Given the description of an element on the screen output the (x, y) to click on. 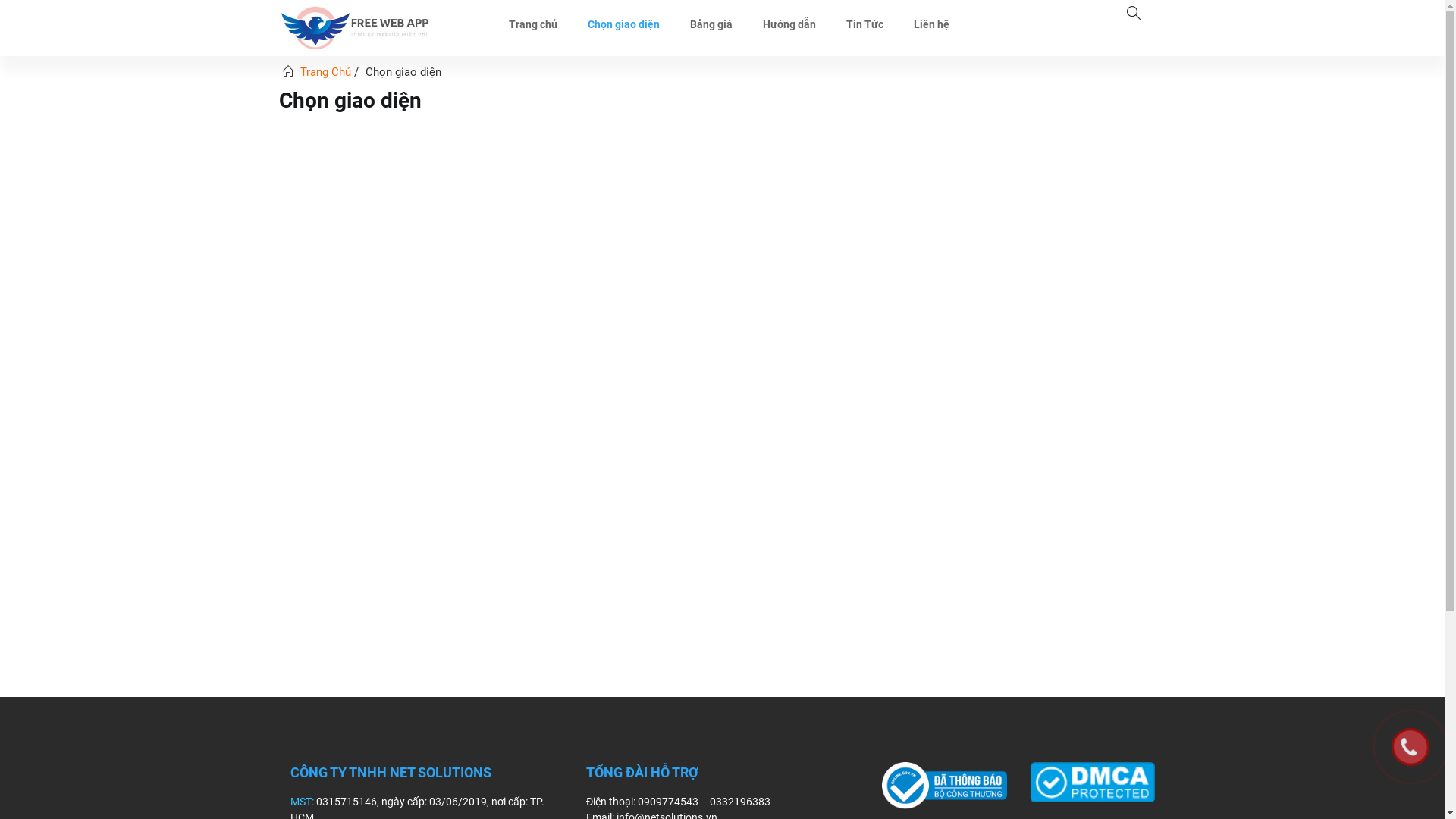
dmca_protected_16_120 Element type: hover (1091, 782)
da-thong-bao-bo-cong-thuong-adsplus-1 Element type: hover (943, 785)
0909774543 Element type: text (667, 801)
0332196383 Element type: text (739, 801)
